Given the description of an element on the screen output the (x, y) to click on. 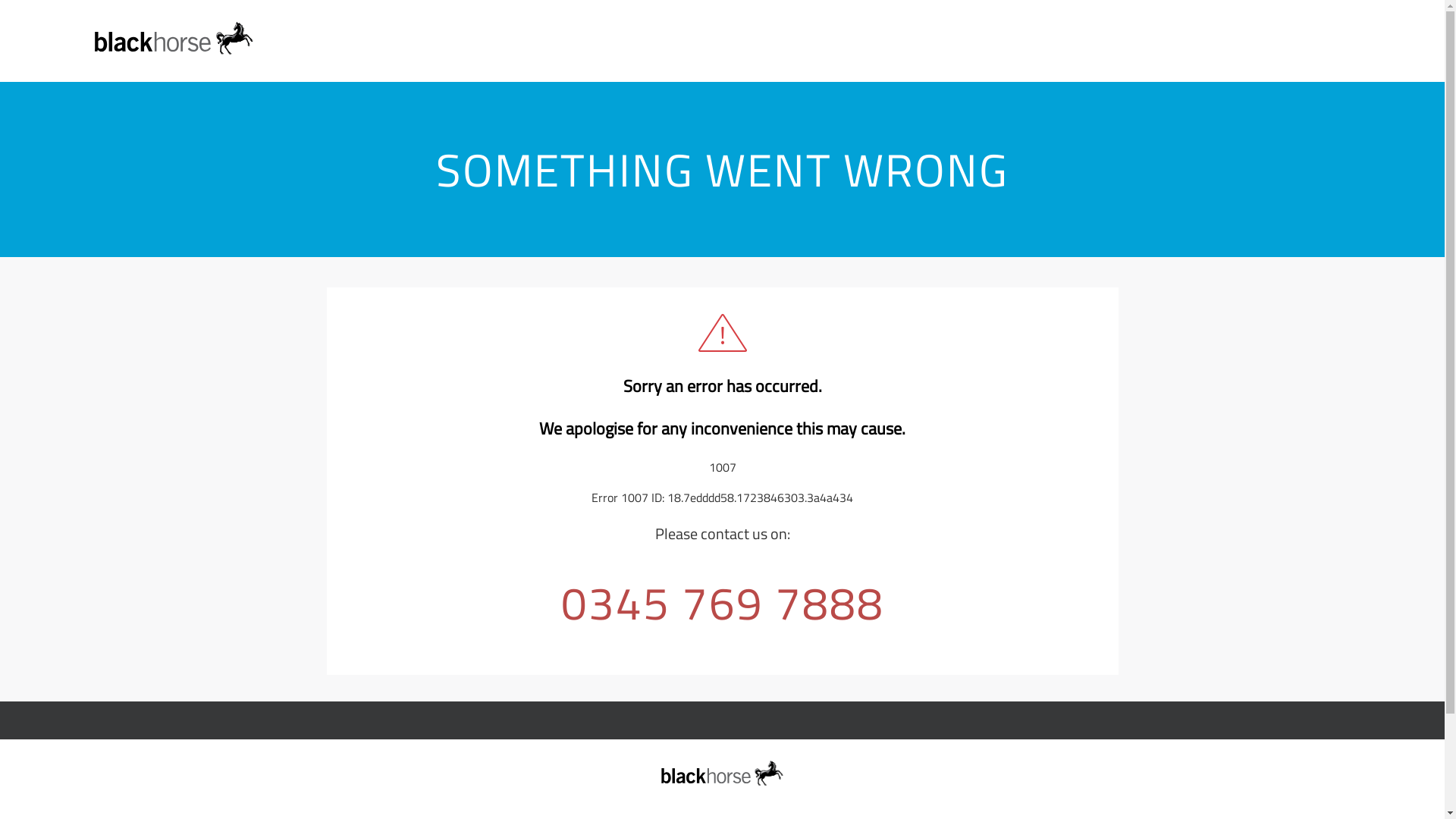
A2D180D4-94A7-488A-B61E-D545A30BEA32 (173, 38)
0345 769 7888 (721, 602)
A2D180D4-94A7-488A-B61E-D545A30BEA32 (722, 773)
